Given the description of an element on the screen output the (x, y) to click on. 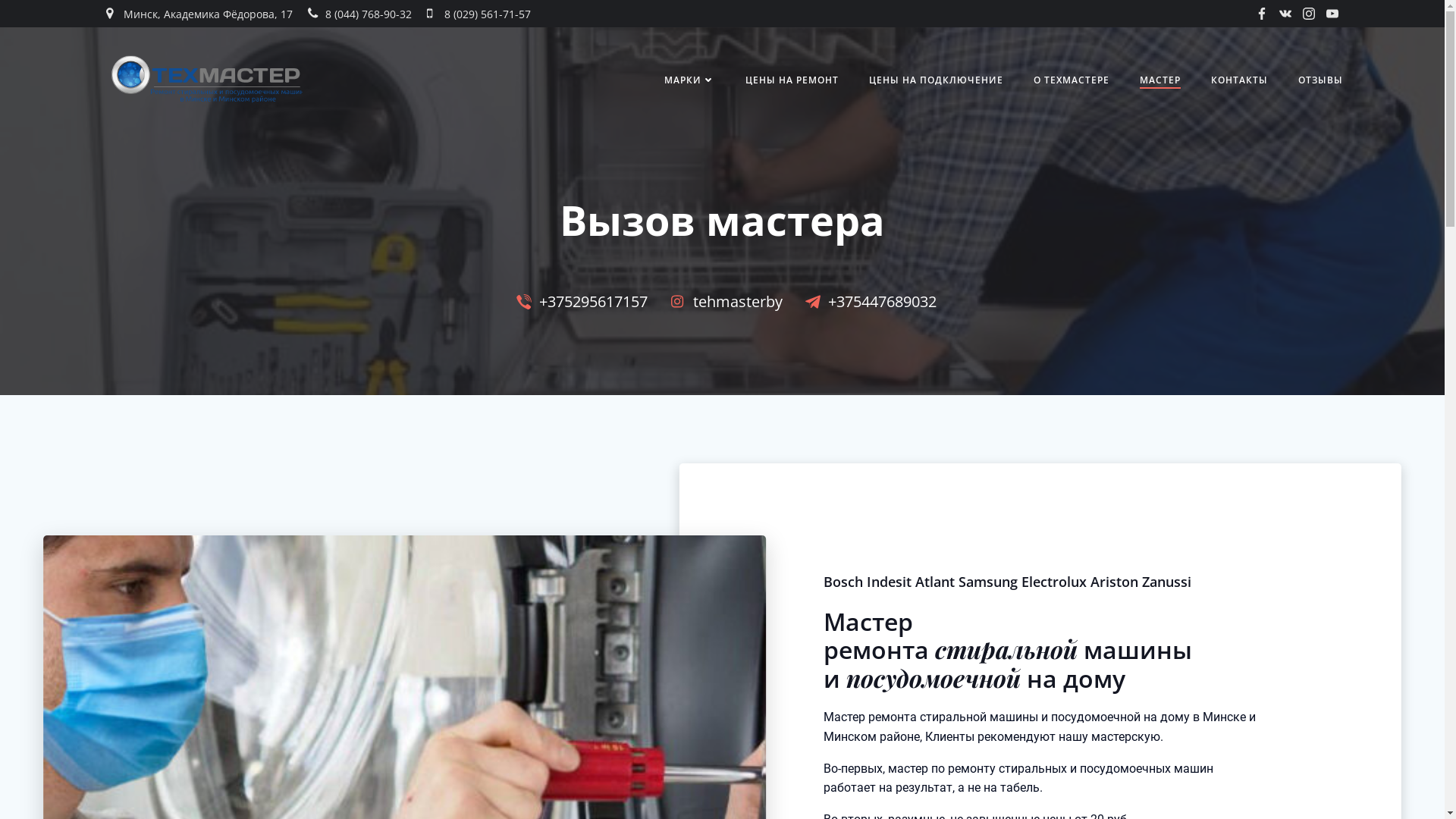
8 (044) 768-90-32 Element type: text (359, 13)
8 (029) 561-71-57 Element type: text (478, 13)
tehmasterby Element type: text (722, 301)
+375295617157 Element type: text (577, 301)
+375447689032 Element type: text (866, 301)
Colibri Element type: text (894, 773)
